Given the description of an element on the screen output the (x, y) to click on. 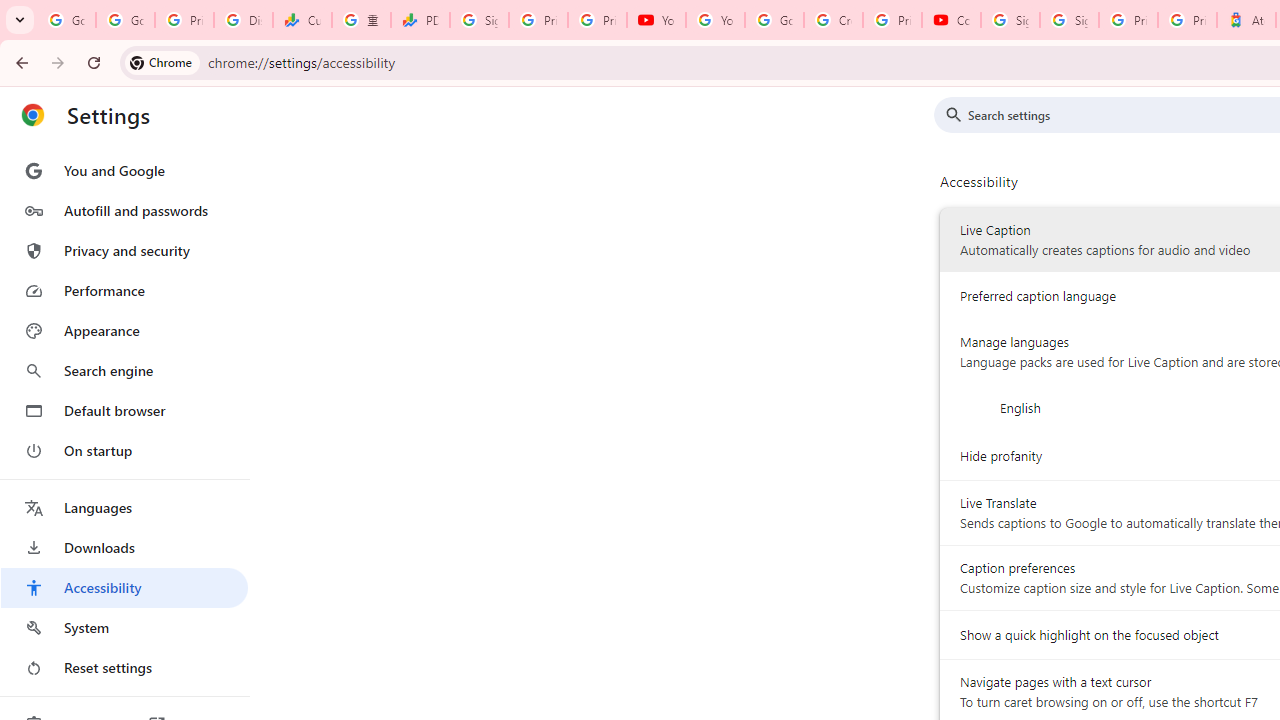
Sign in - Google Accounts (1010, 20)
Create your Google Account (832, 20)
Privacy Checkup (597, 20)
Autofill and passwords (124, 210)
